Given the description of an element on the screen output the (x, y) to click on. 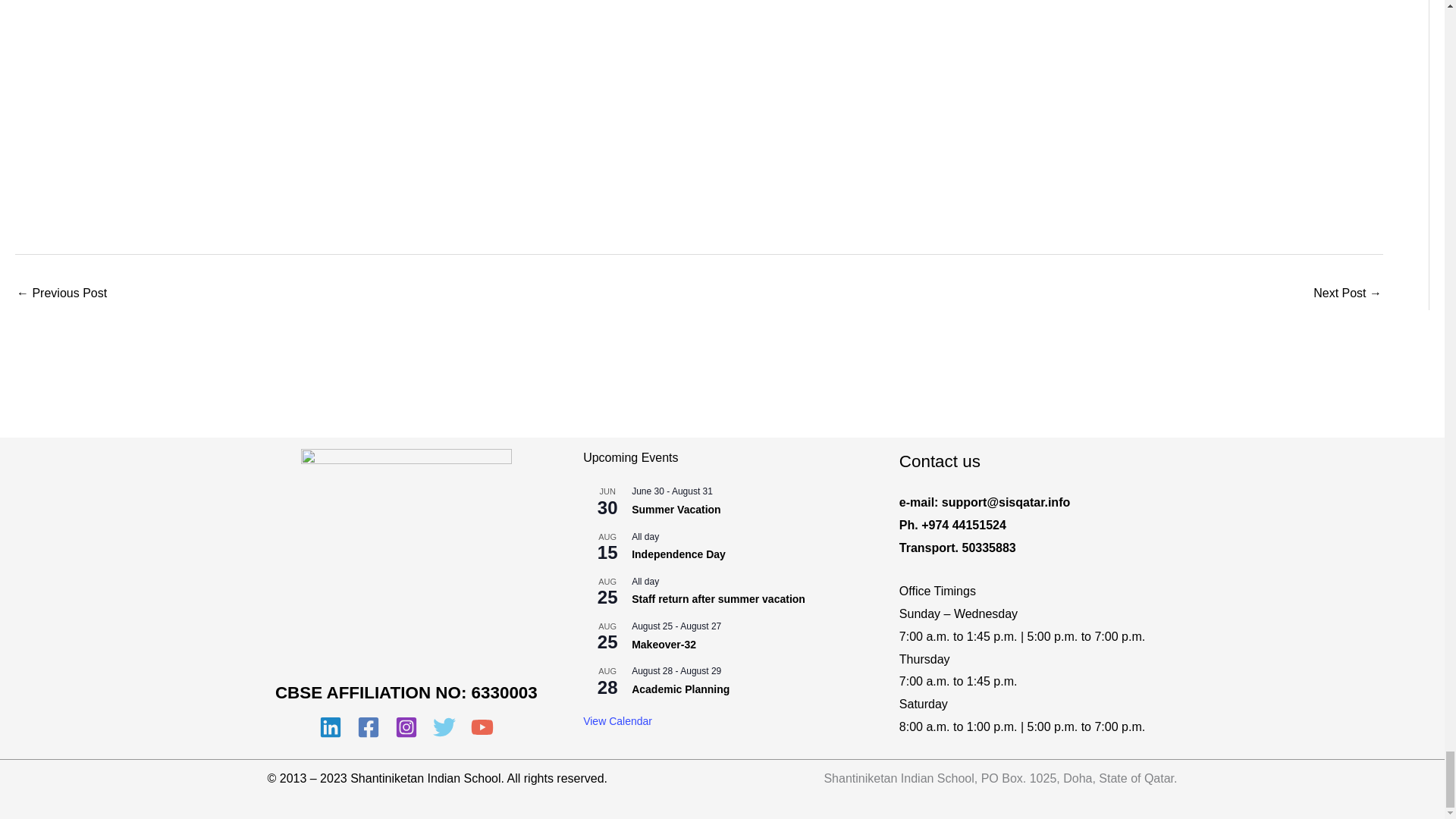
Summer Vacation (675, 509)
CBSE Qatar Cluster Basketball Tournament 2019-20 (61, 294)
Independence  Day (678, 554)
SIS Students Stand out as Champions in Ideal Literati (1347, 294)
